Given the description of an element on the screen output the (x, y) to click on. 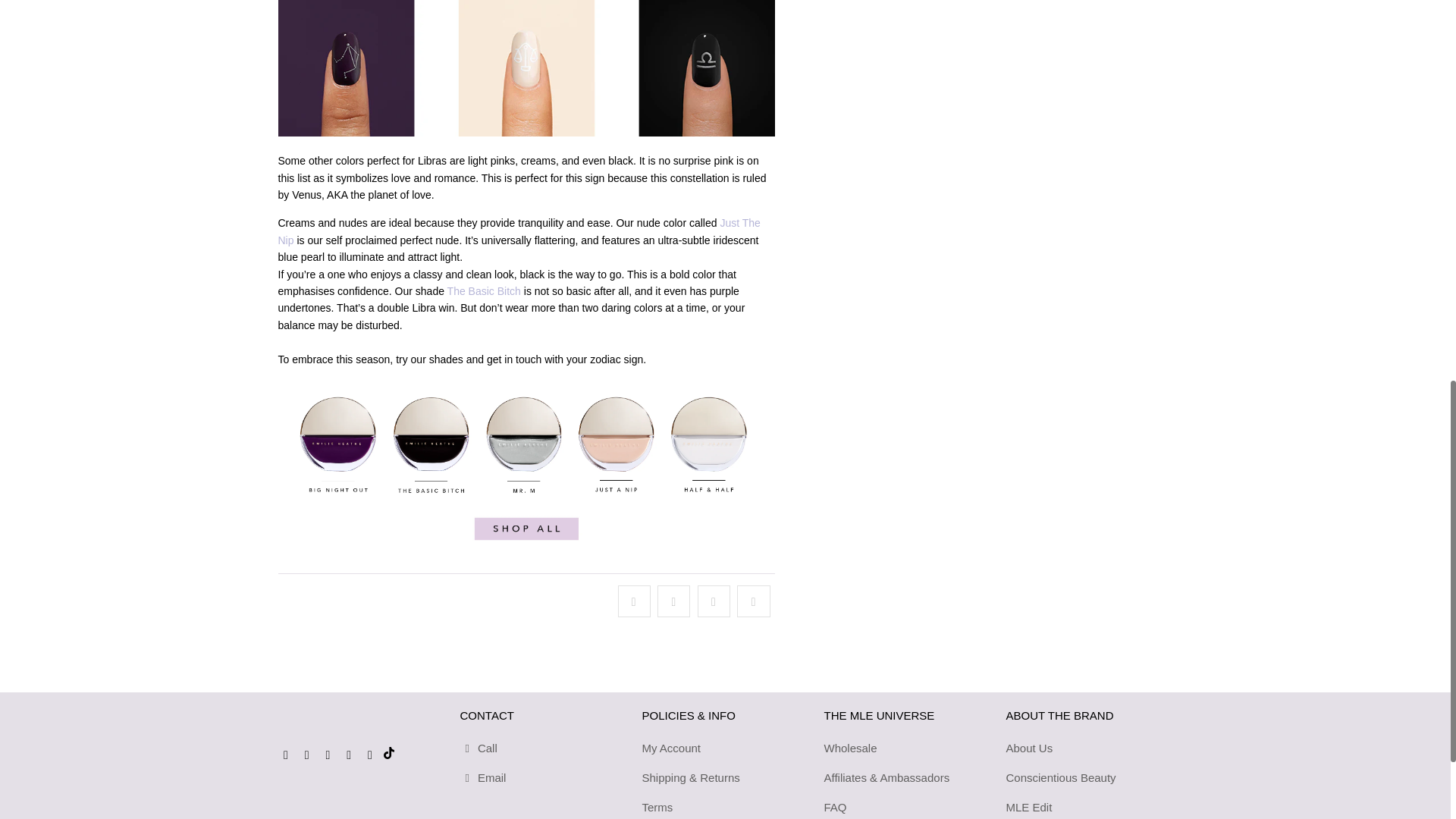
Shop All Emilie Heathe Nail Artist Shades (526, 552)
TikTok icon (388, 752)
Share this on Facebook (674, 601)
Clean Beauty Nail Polish (526, 132)
Just The Nip (519, 231)
The Basic Bitch (483, 291)
Share this on Pinterest (713, 601)
Share this on Twitter (633, 601)
Email this to a friend (753, 601)
